Given the description of an element on the screen output the (x, y) to click on. 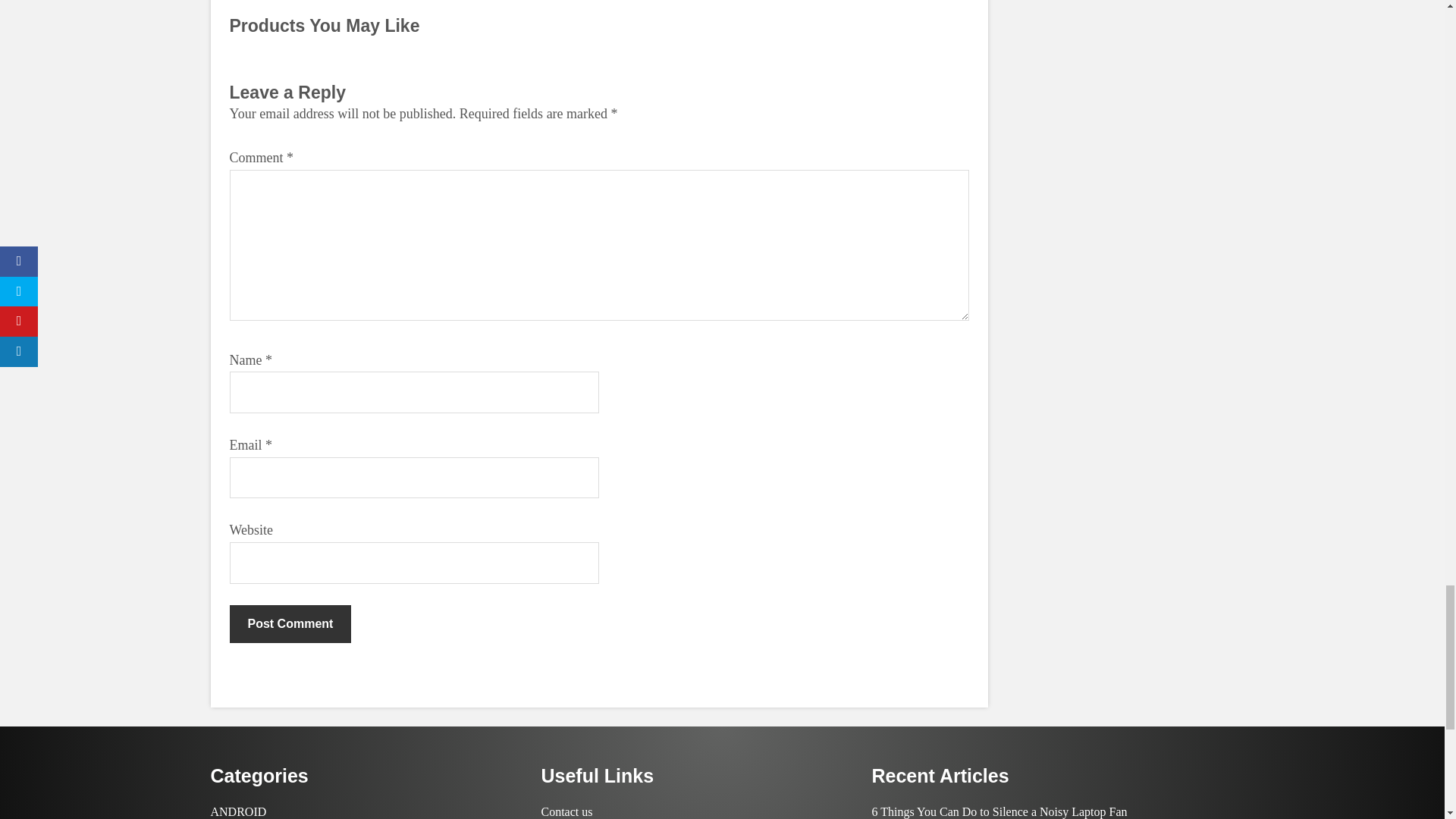
Post Comment (289, 623)
